Given the description of an element on the screen output the (x, y) to click on. 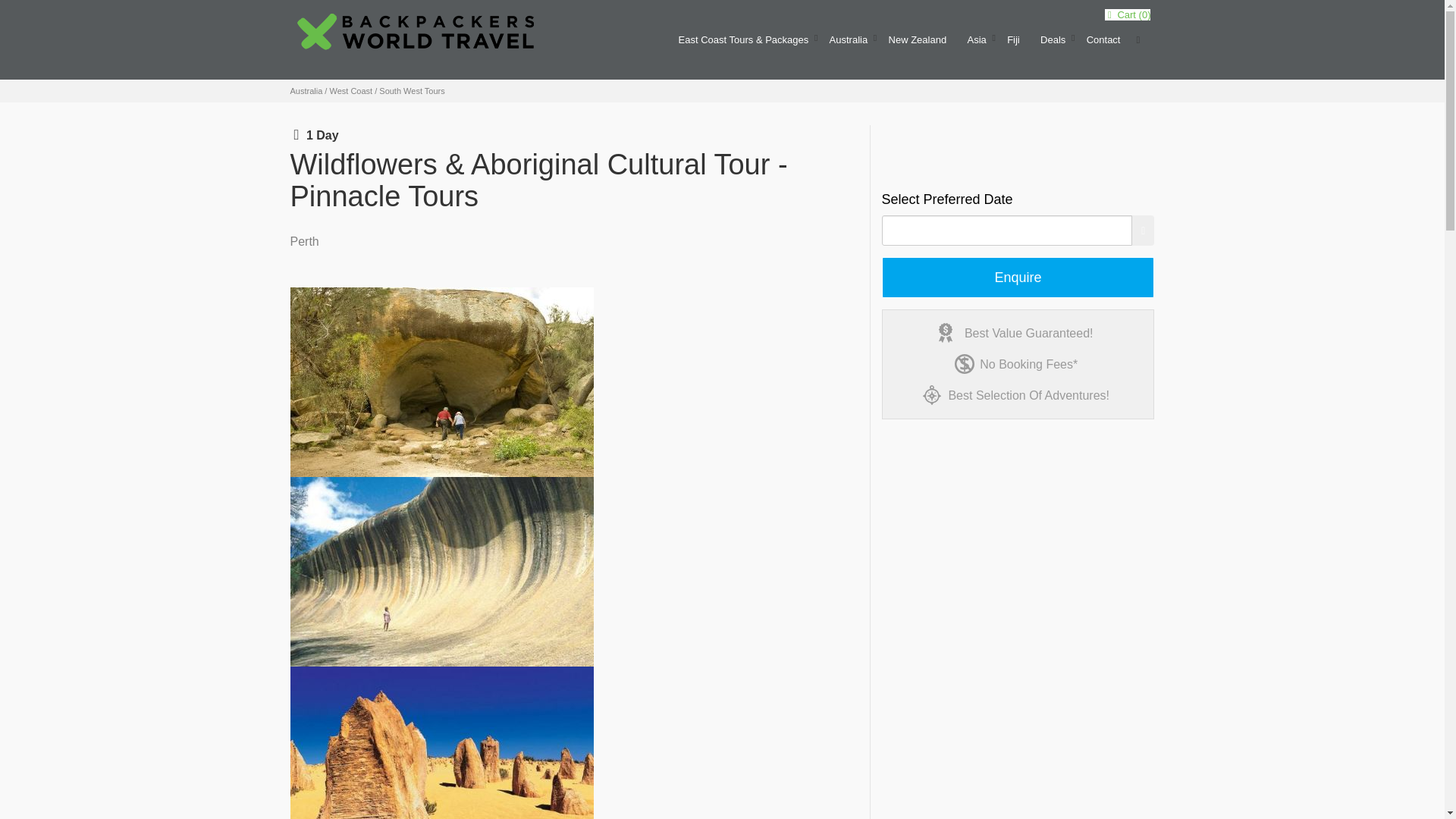
Asia (976, 45)
Australia (849, 45)
10723 41b406 (440, 571)
Australia (849, 45)
Hippos Yawn TWA 900x500 (440, 381)
Deals (1052, 45)
Fiji (1013, 45)
Contact (1103, 45)
